Given the description of an element on the screen output the (x, y) to click on. 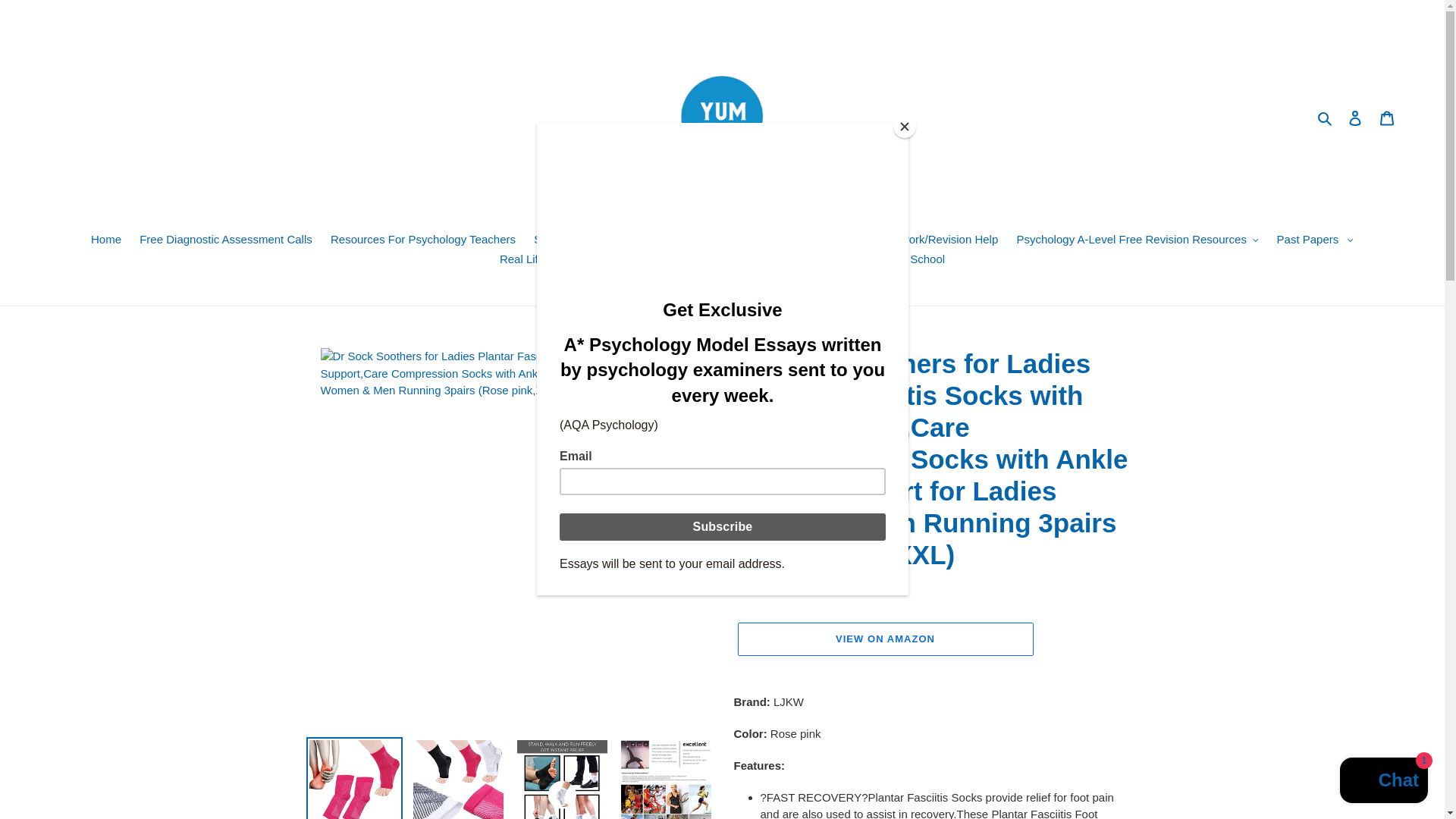
Log in (1355, 117)
Search (1326, 117)
Cart (1387, 117)
Shopify online store chat (1383, 781)
